Given the description of an element on the screen output the (x, y) to click on. 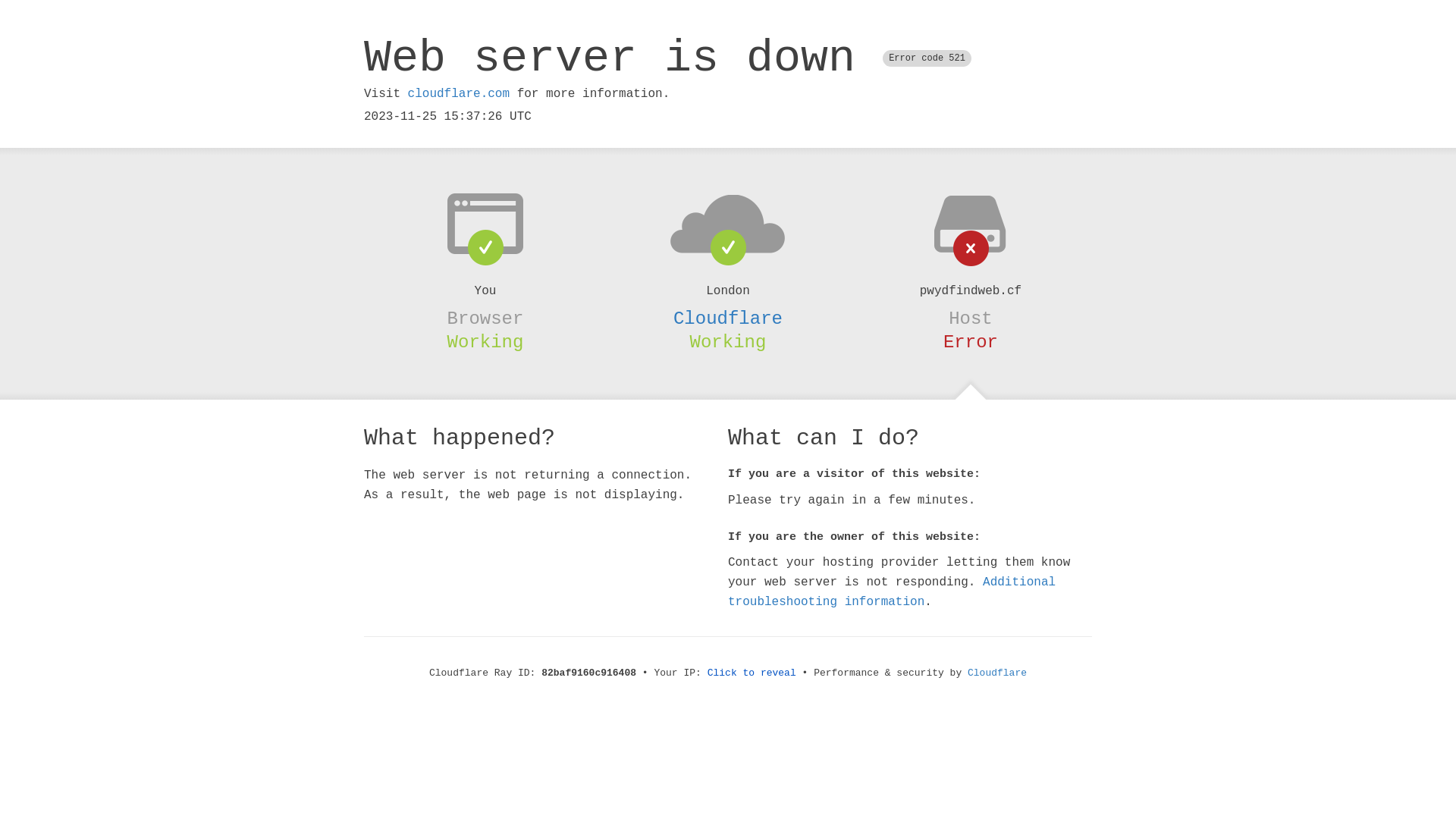
cloudflare.com Element type: text (458, 93)
Cloudflare Element type: text (996, 672)
Cloudflare Element type: text (727, 318)
Additional troubleshooting information Element type: text (891, 591)
Click to reveal Element type: text (751, 672)
